Given the description of an element on the screen output the (x, y) to click on. 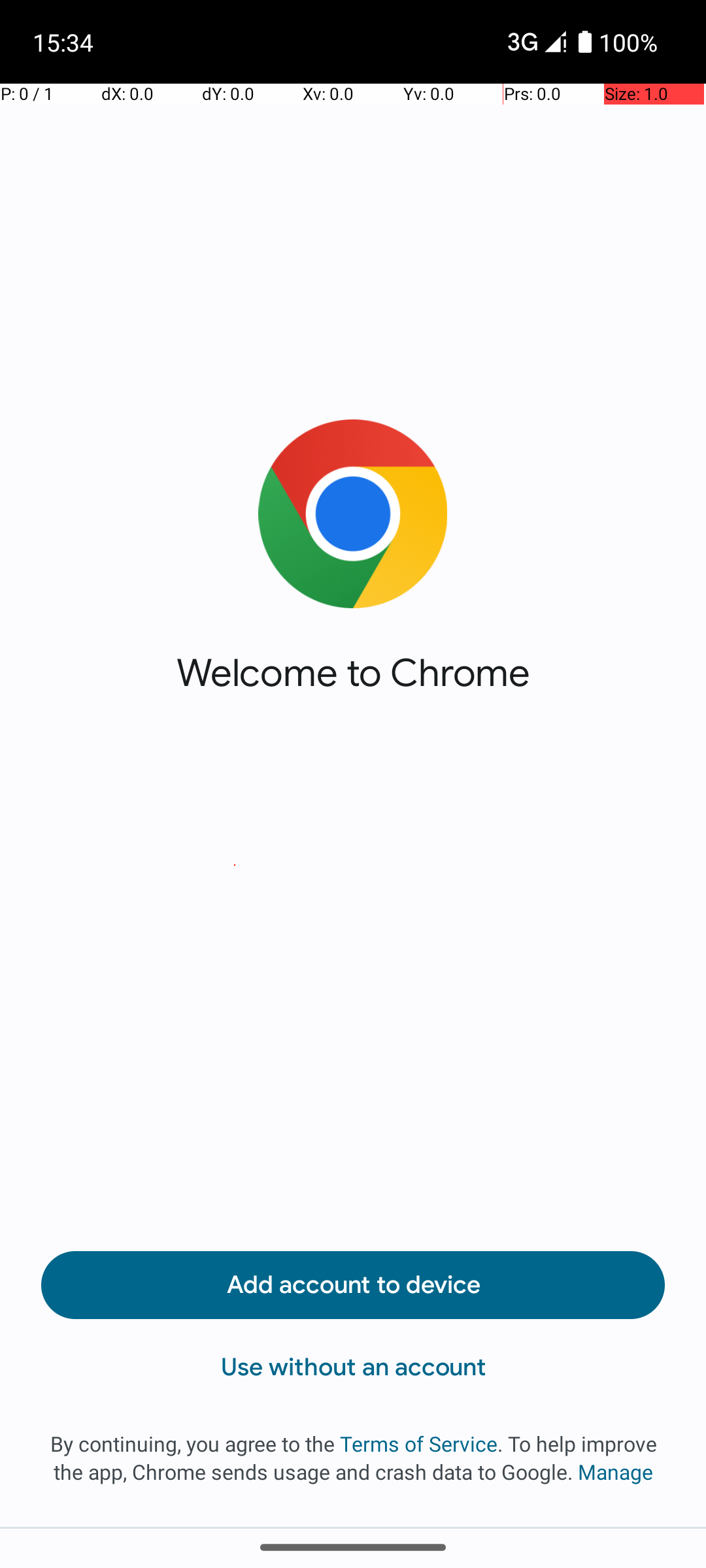
By continuing, you agree to the Terms of Service. To help improve the app, Chrome sends usage and crash data to Google. Manage Element type: android.widget.TextView (352, 1457)
Add account to device Element type: android.widget.Button (352, 1284)
Use without an account Element type: android.widget.Button (352, 1367)
